Given the description of an element on the screen output the (x, y) to click on. 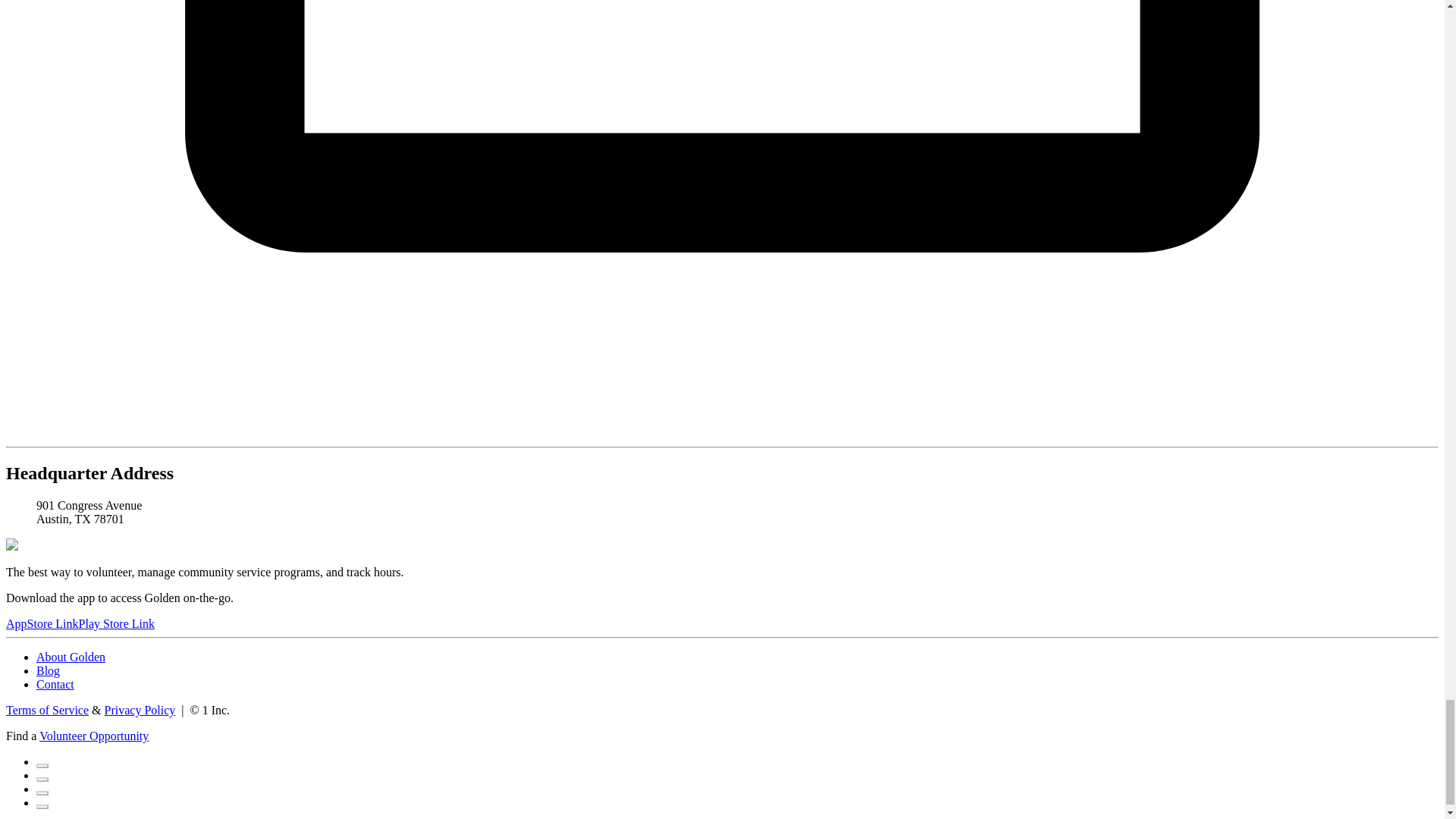
Play Store Link (116, 623)
Blog (47, 670)
About Golden (70, 656)
Privacy Policy (140, 709)
Visit Us On Instagram (42, 788)
AppStore Link (41, 623)
Blog (47, 670)
About Golden (70, 656)
Visit Us On Facebook (42, 761)
Terms of Service (46, 709)
Volunteer Opportunity (93, 735)
Volunteer Opportunity (93, 735)
Contact (55, 684)
Contact (55, 684)
Visit Us On YouTube (42, 802)
